Given the description of an element on the screen output the (x, y) to click on. 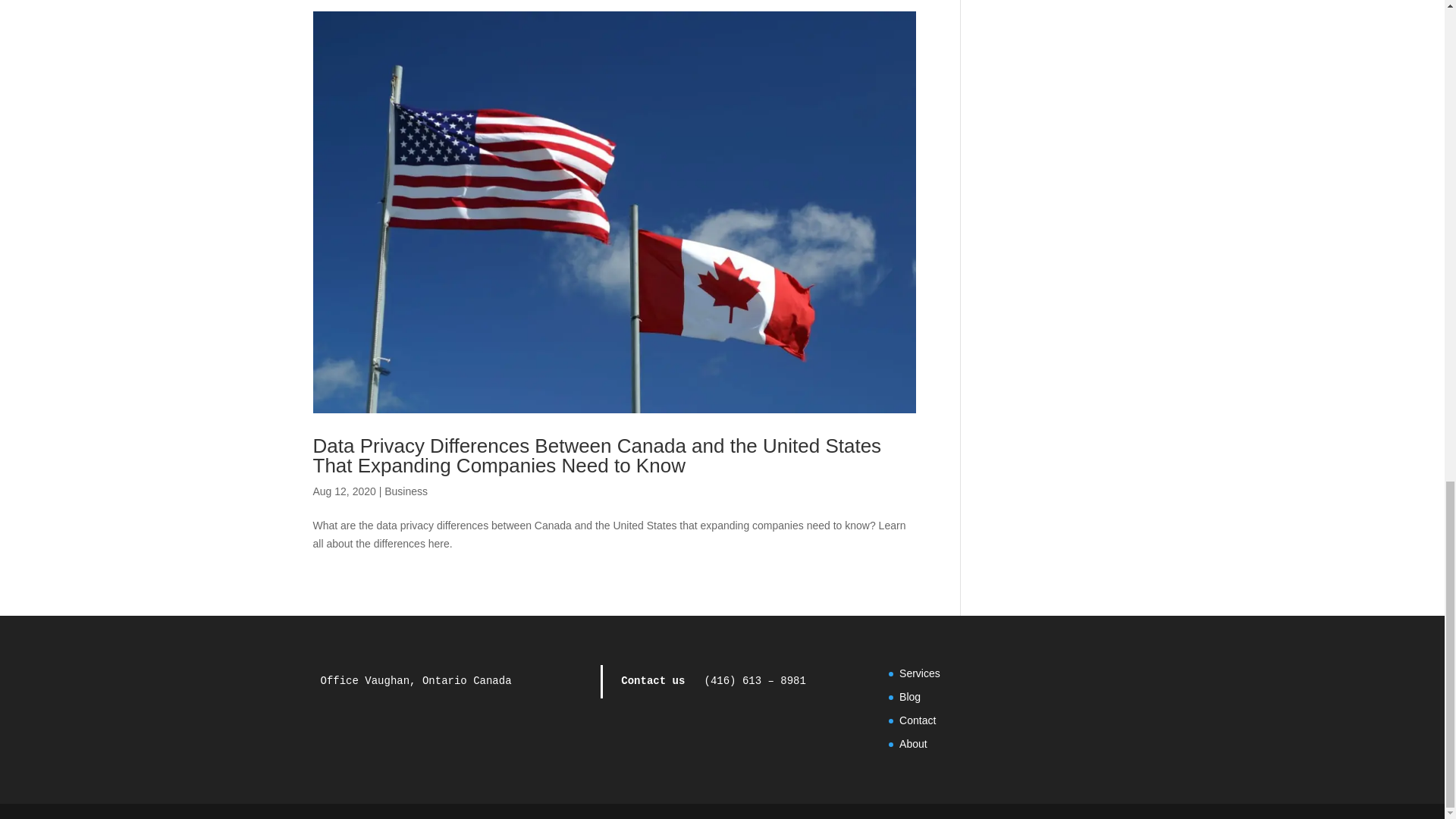
Business (406, 491)
Services (919, 673)
Contact (917, 720)
Blog (909, 696)
About (913, 743)
